Given the description of an element on the screen output the (x, y) to click on. 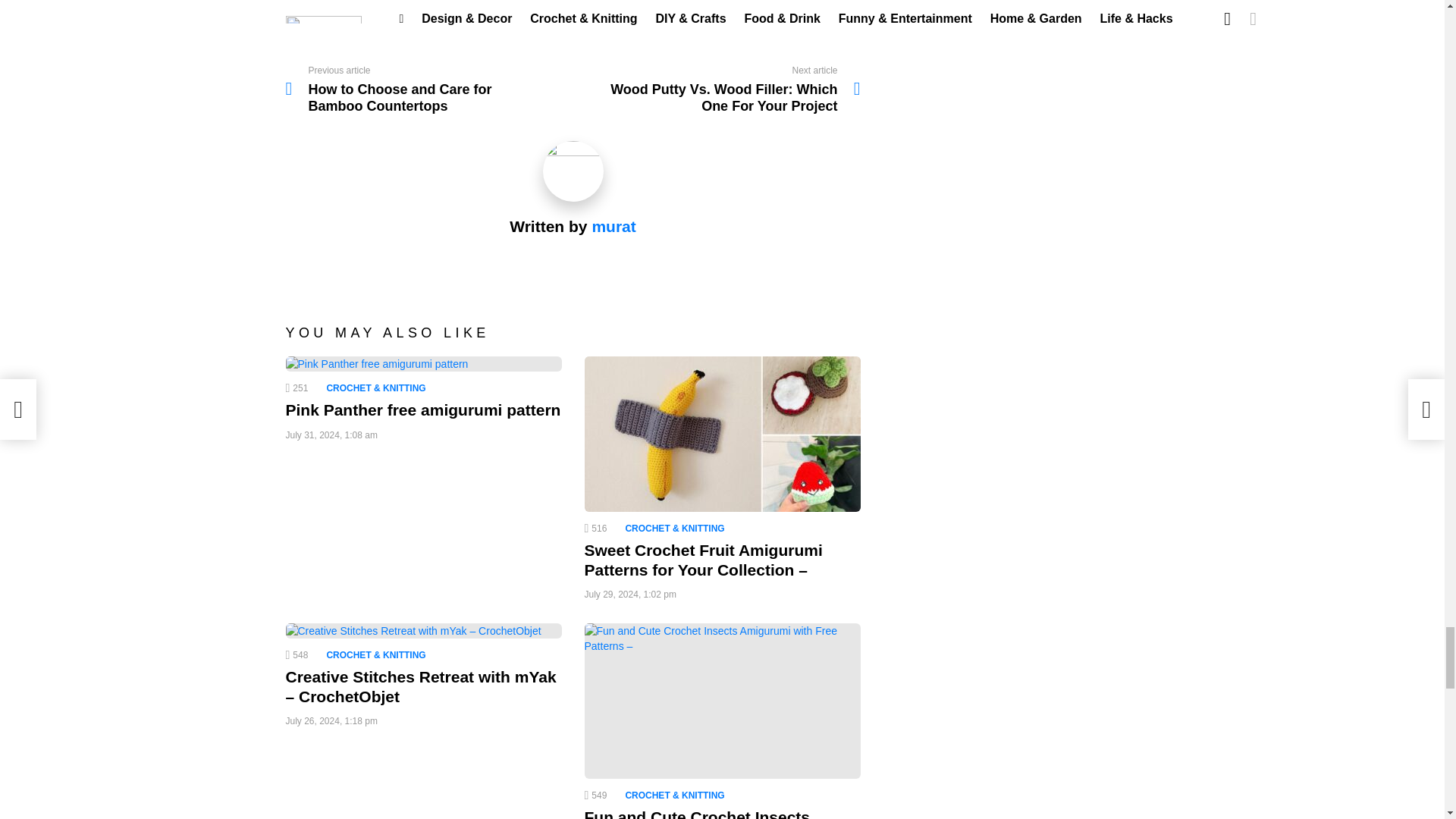
Pink Panther free amigurumi pattern (422, 363)
